Given the description of an element on the screen output the (x, y) to click on. 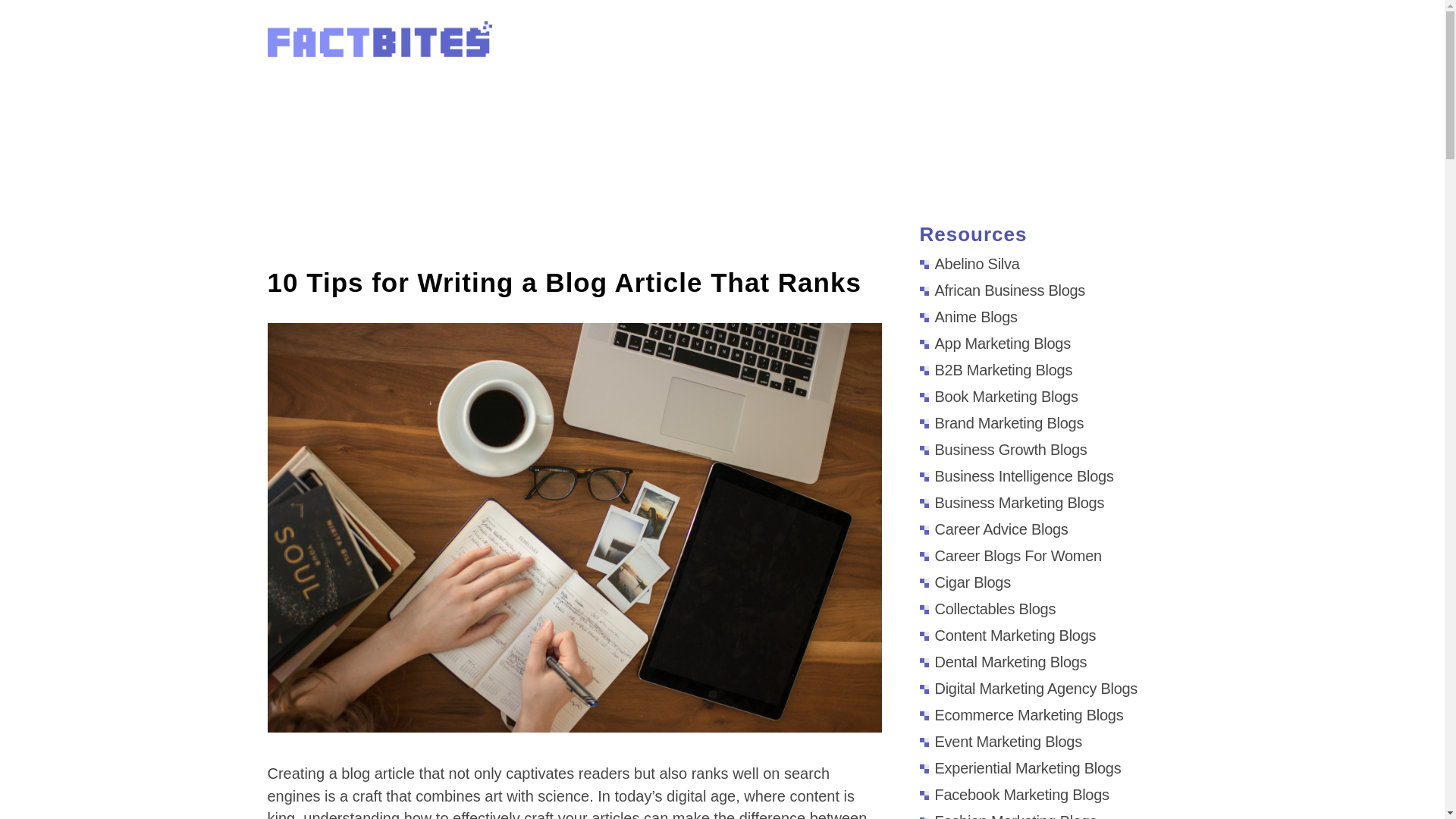
Anime Blogs (967, 316)
About (923, 44)
Cigar Blogs (964, 582)
Career Blogs For Women (1009, 555)
Abelino Silva (968, 263)
Event Marketing Blogs (999, 741)
Career Advice Blogs (992, 528)
Facebook Marketing Blogs (1013, 794)
Business Growth Blogs (1002, 449)
Collectables Blogs (986, 608)
Contact (1153, 44)
African Business Blogs (1001, 289)
Categories (1005, 44)
Brand Marketing Blogs (1000, 422)
Business Intelligence Blogs (1015, 475)
